Given the description of an element on the screen output the (x, y) to click on. 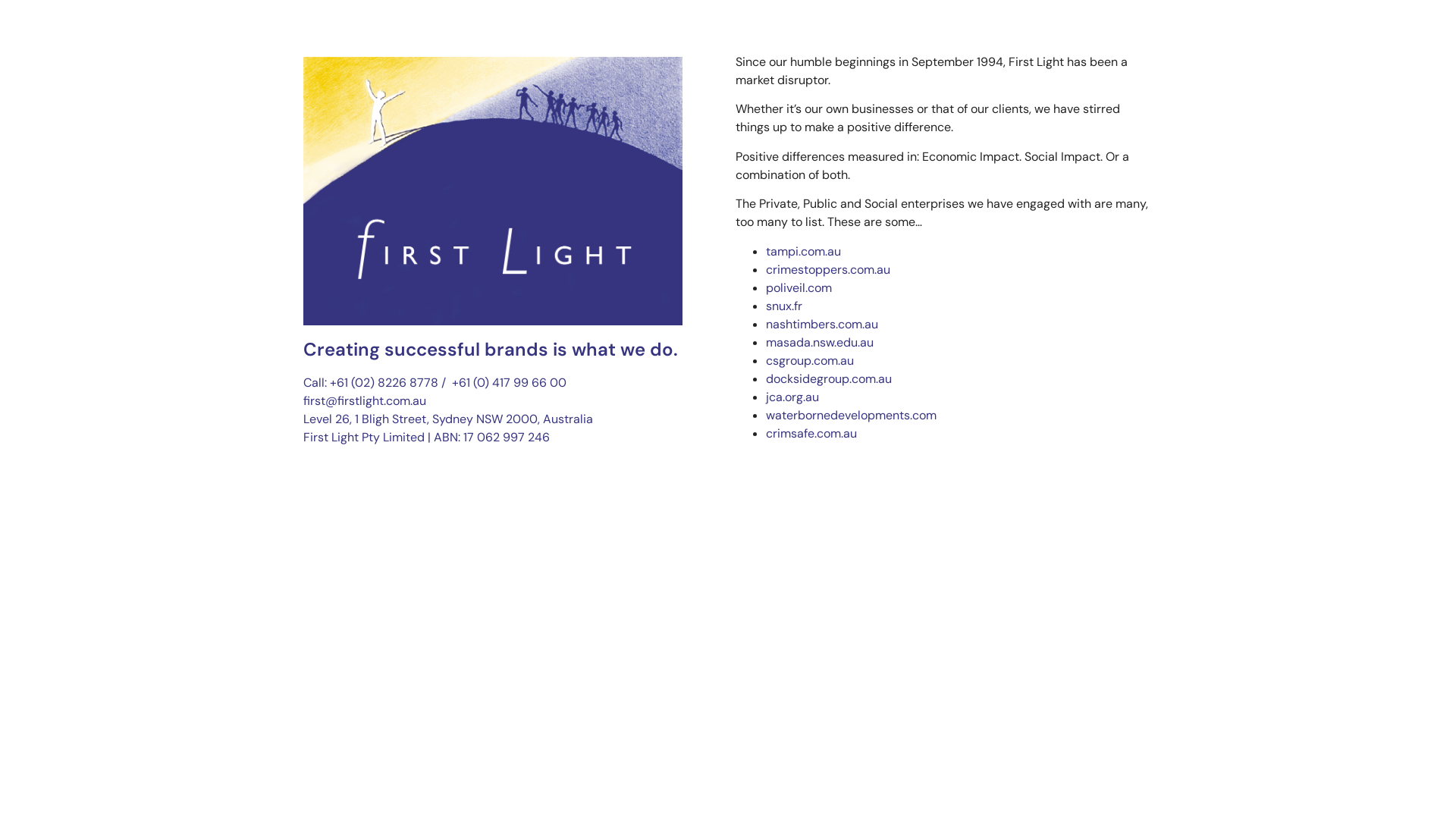
poliveil.com Element type: text (798, 287)
masada.nsw.edu.au Element type: text (819, 342)
crimestoppers.com.au Element type: text (827, 269)
jca.org.au Element type: text (792, 396)
tampi.com.au Element type: text (802, 251)
waterbornedevelopments.com Element type: text (850, 415)
docksidegroup.com.au Element type: text (828, 378)
snux.fr Element type: text (783, 305)
csgroup.com.au Element type: text (809, 360)
crimsafe.com.au Element type: text (810, 433)
first@firstlight.com.au Element type: text (364, 400)
nashtimbers.com.au Element type: text (821, 324)
